Given the description of an element on the screen output the (x, y) to click on. 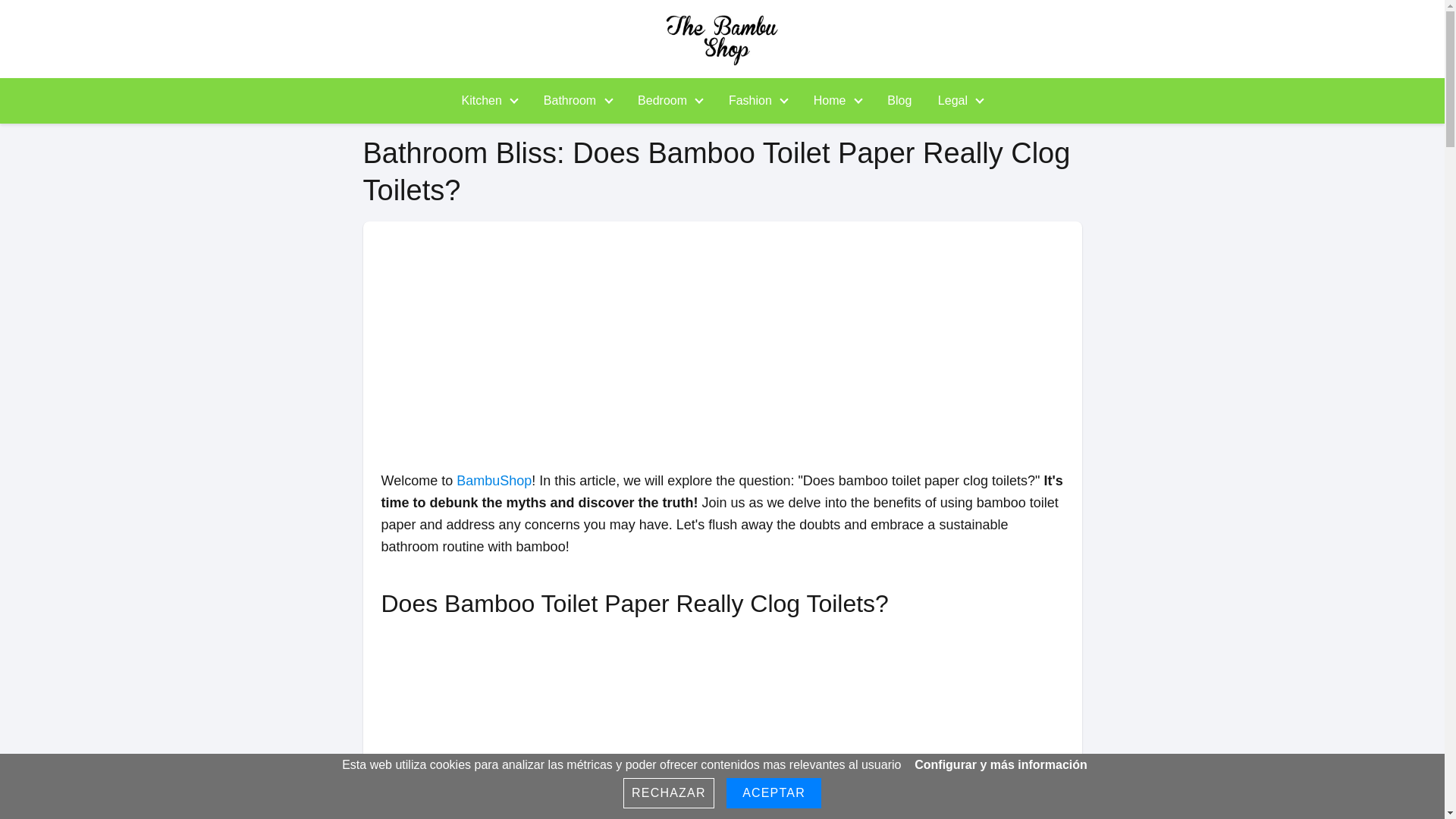
Legal (955, 100)
Fashion (753, 100)
RECHAZAR (668, 793)
Blog (898, 100)
Advertisement (717, 725)
Home (832, 100)
Bedroom (665, 100)
Kitchen (484, 100)
Bathroom (572, 100)
BambuShop (494, 480)
